Given the description of an element on the screen output the (x, y) to click on. 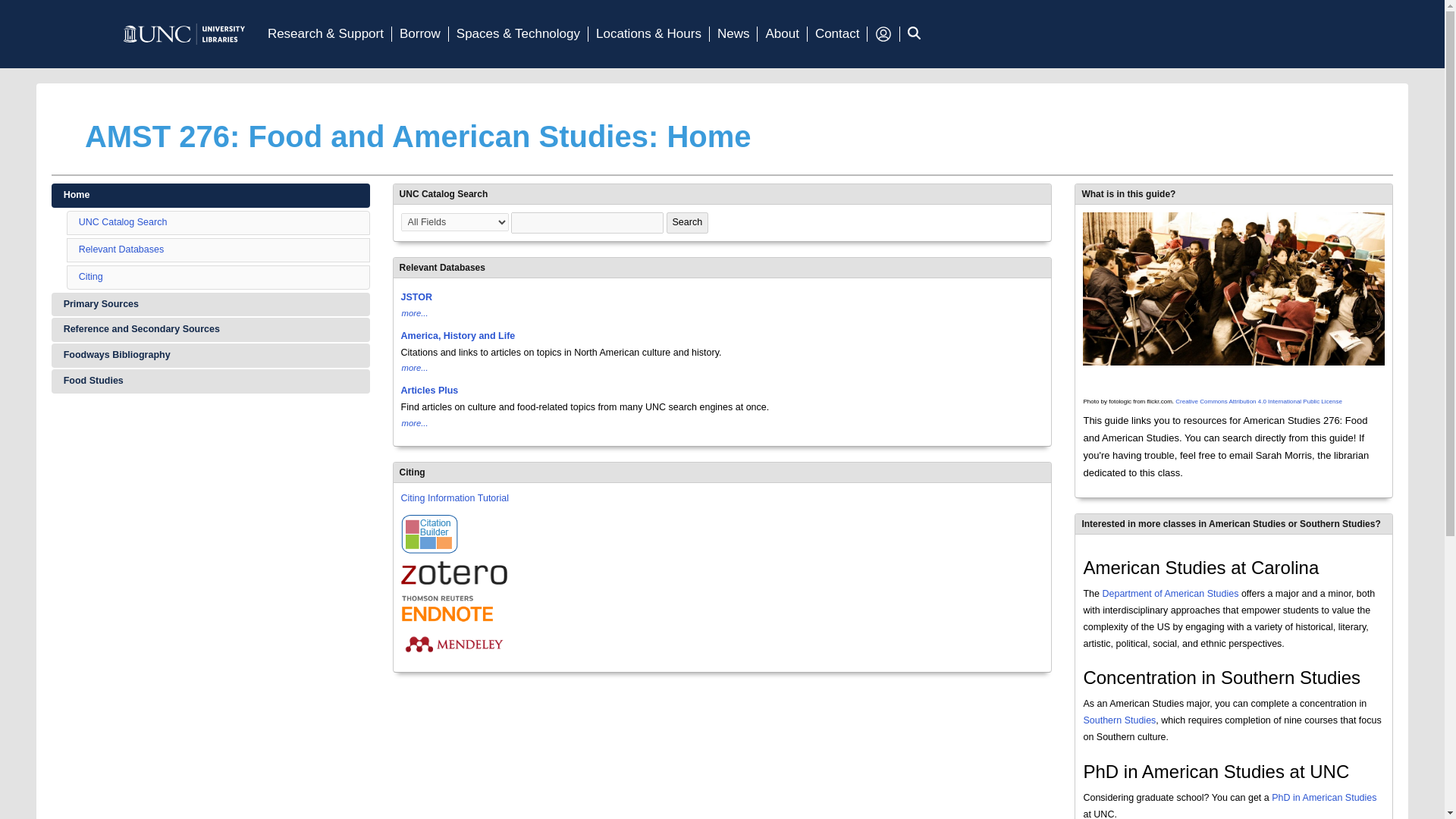
UNC Catalog Search (122, 222)
Relevant Databases (121, 249)
Articles Plus (429, 389)
Mendeley (453, 643)
more... (415, 423)
Borrow (419, 34)
Citing Information Tutorial (454, 498)
Search (687, 222)
News (733, 34)
JSTOR (416, 296)
Contact (837, 34)
Southern Studies (1119, 719)
PhD in American Studies (1323, 797)
Home (209, 195)
About (781, 34)
